Given the description of an element on the screen output the (x, y) to click on. 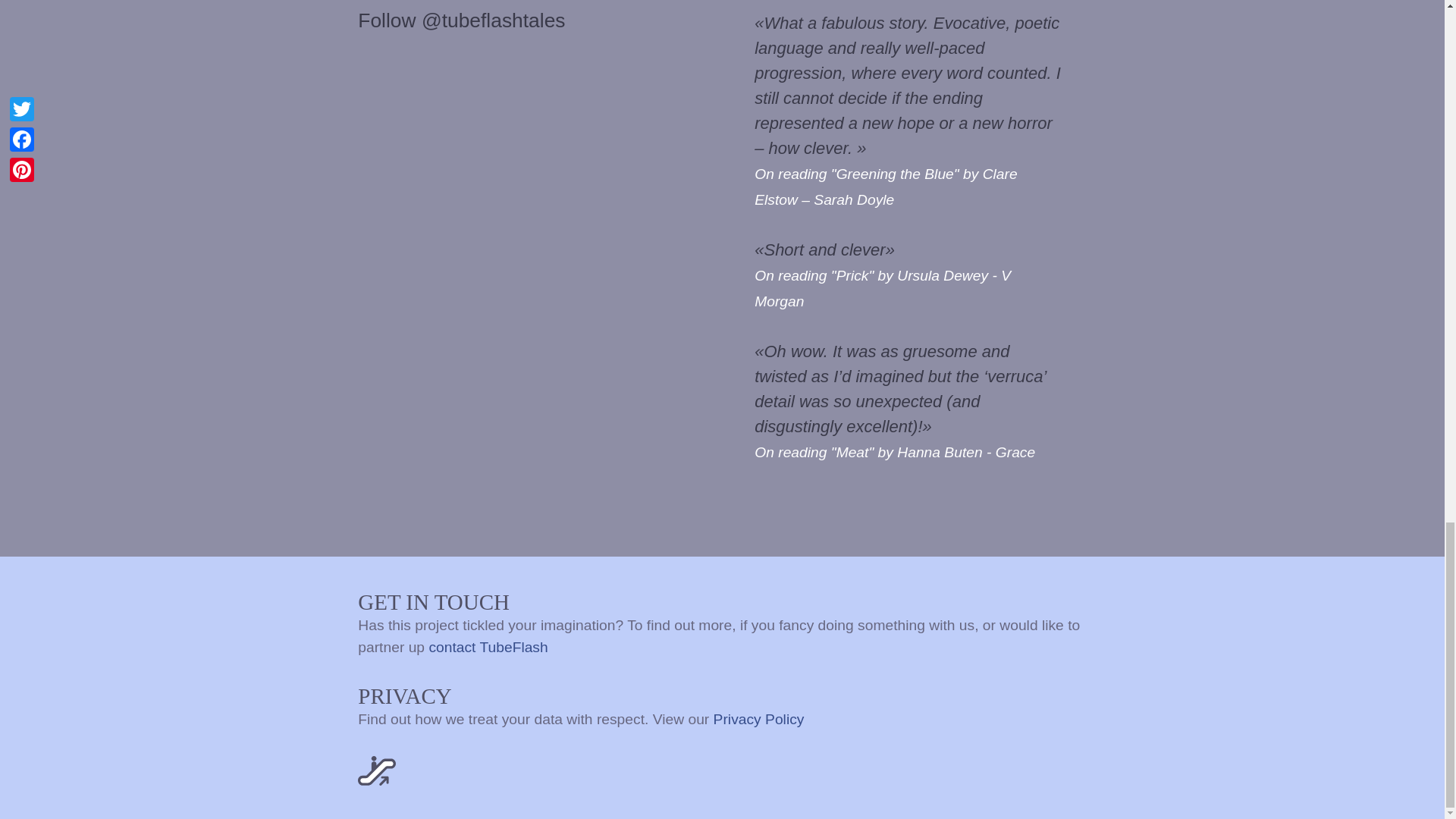
Privacy Policy (758, 718)
Go to top (376, 769)
contact TubeFlash (489, 646)
Ascend the escalator (377, 770)
